Given the description of an element on the screen output the (x, y) to click on. 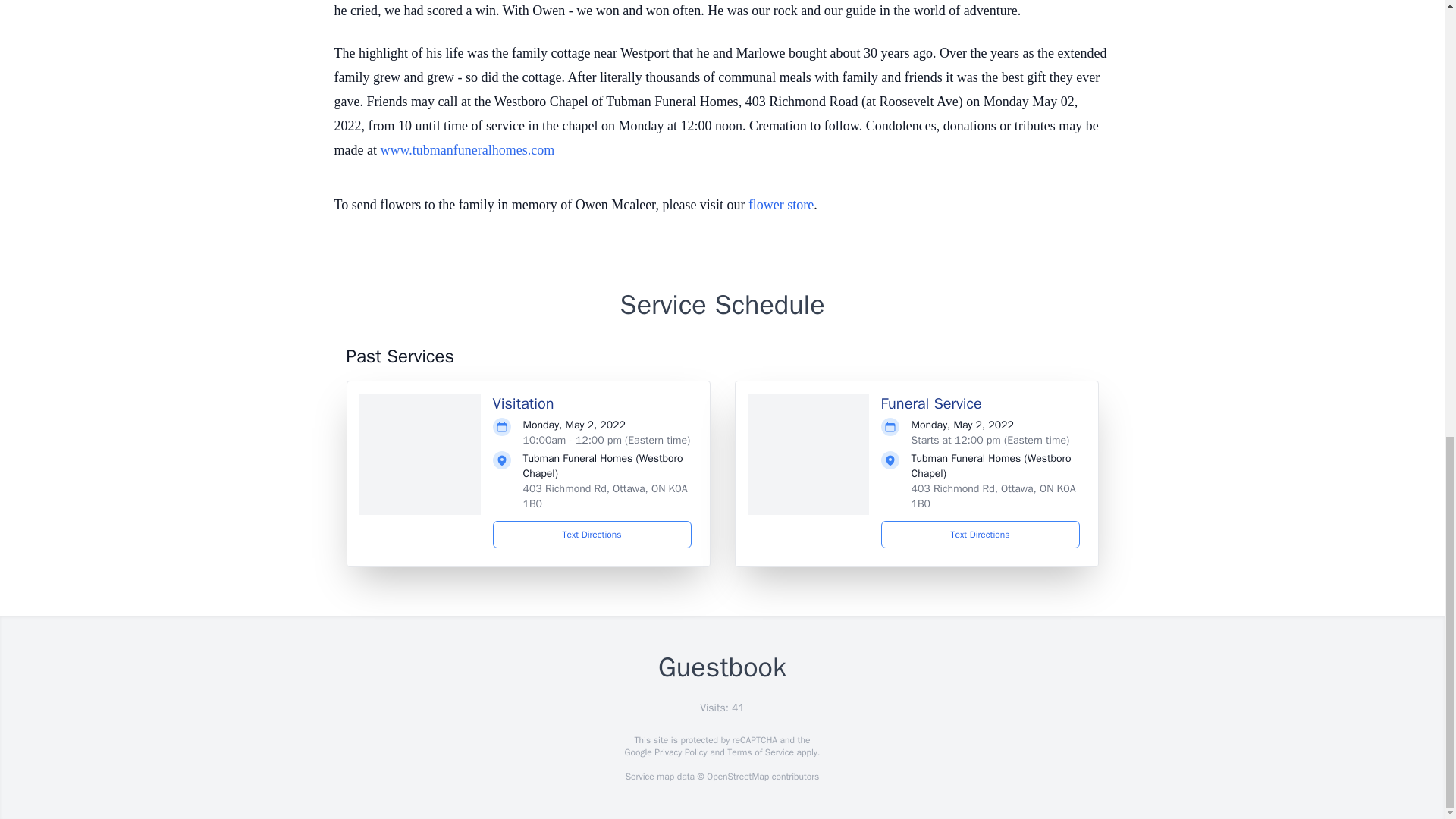
Text Directions (592, 533)
www.tubmanfuneralhomes.com (467, 150)
Text Directions (980, 533)
Privacy Policy (679, 752)
Terms of Service (759, 752)
403 Richmond Rd, Ottawa, ON K0A 1B0 (993, 496)
flower store (780, 204)
OpenStreetMap (737, 776)
403 Richmond Rd, Ottawa, ON K0A 1B0 (604, 496)
